Given the description of an element on the screen output the (x, y) to click on. 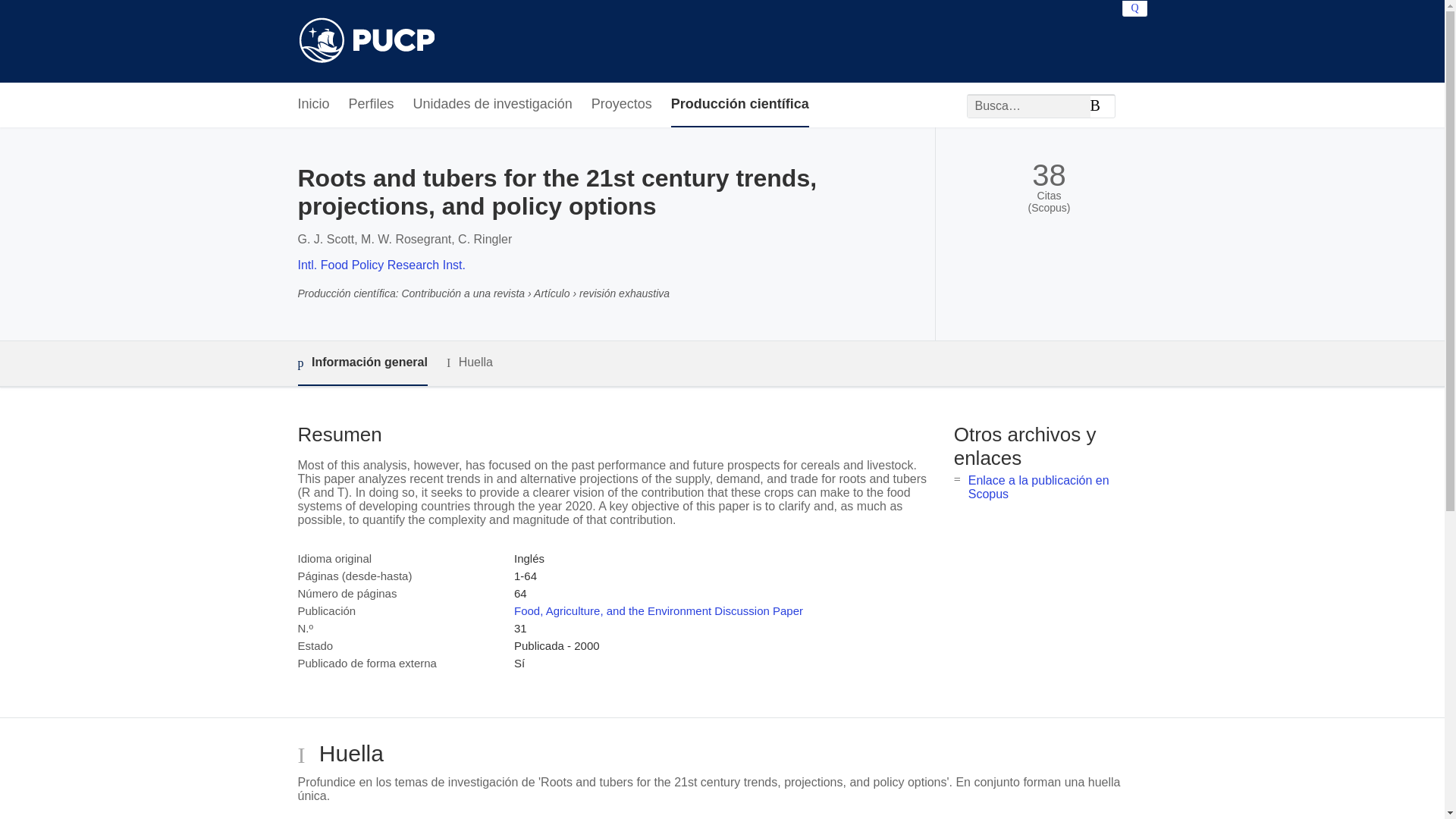
Intl. Food Policy Research Inst. (380, 264)
Perfiles (371, 104)
Proyectos (621, 104)
Huella (469, 362)
Food, Agriculture, and the Environment Discussion Paper (658, 610)
